Given the description of an element on the screen output the (x, y) to click on. 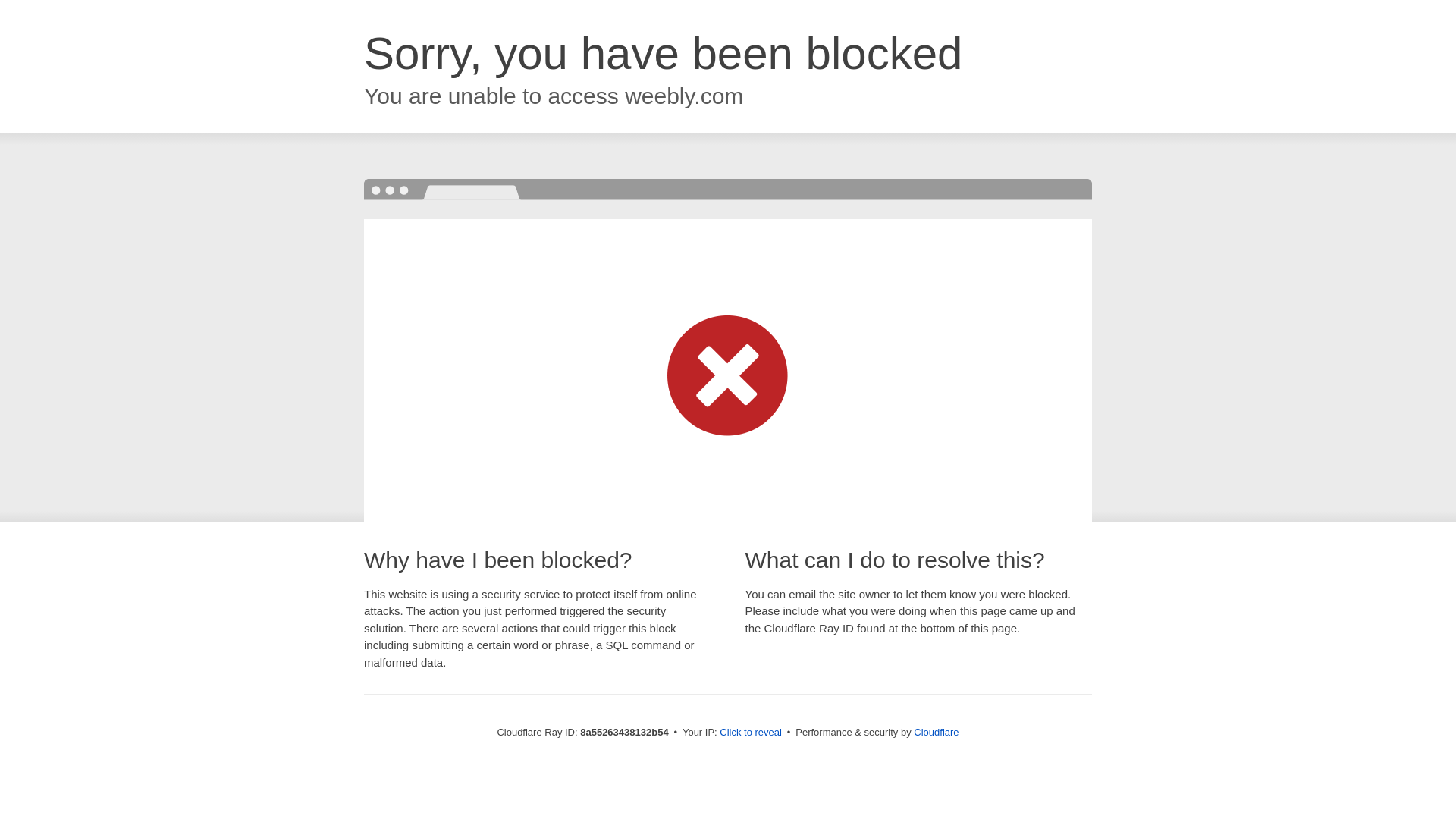
Cloudflare (936, 731)
Click to reveal (750, 732)
